Given the description of an element on the screen output the (x, y) to click on. 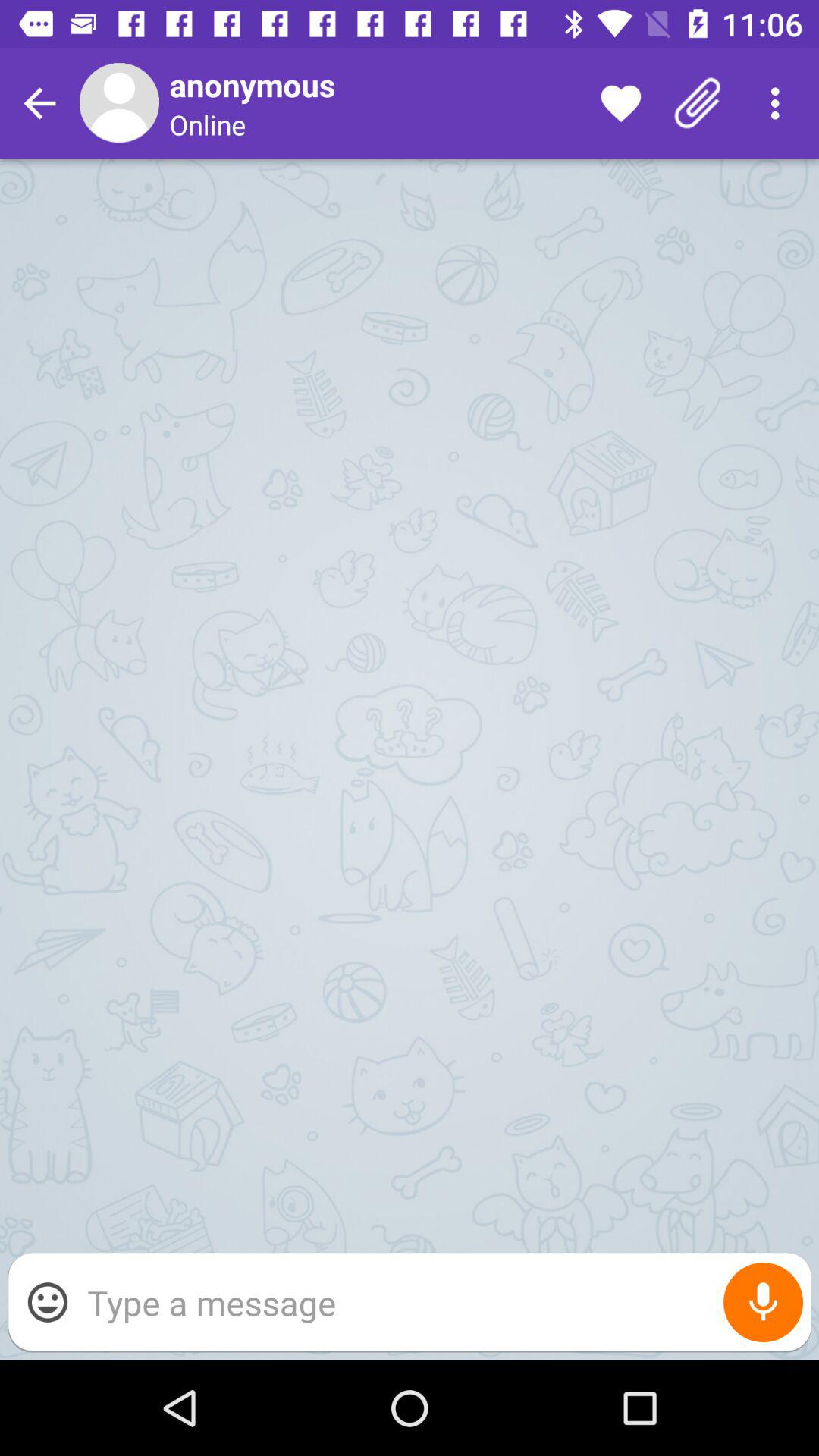
use an emoji in your chat (47, 1302)
